Given the description of an element on the screen output the (x, y) to click on. 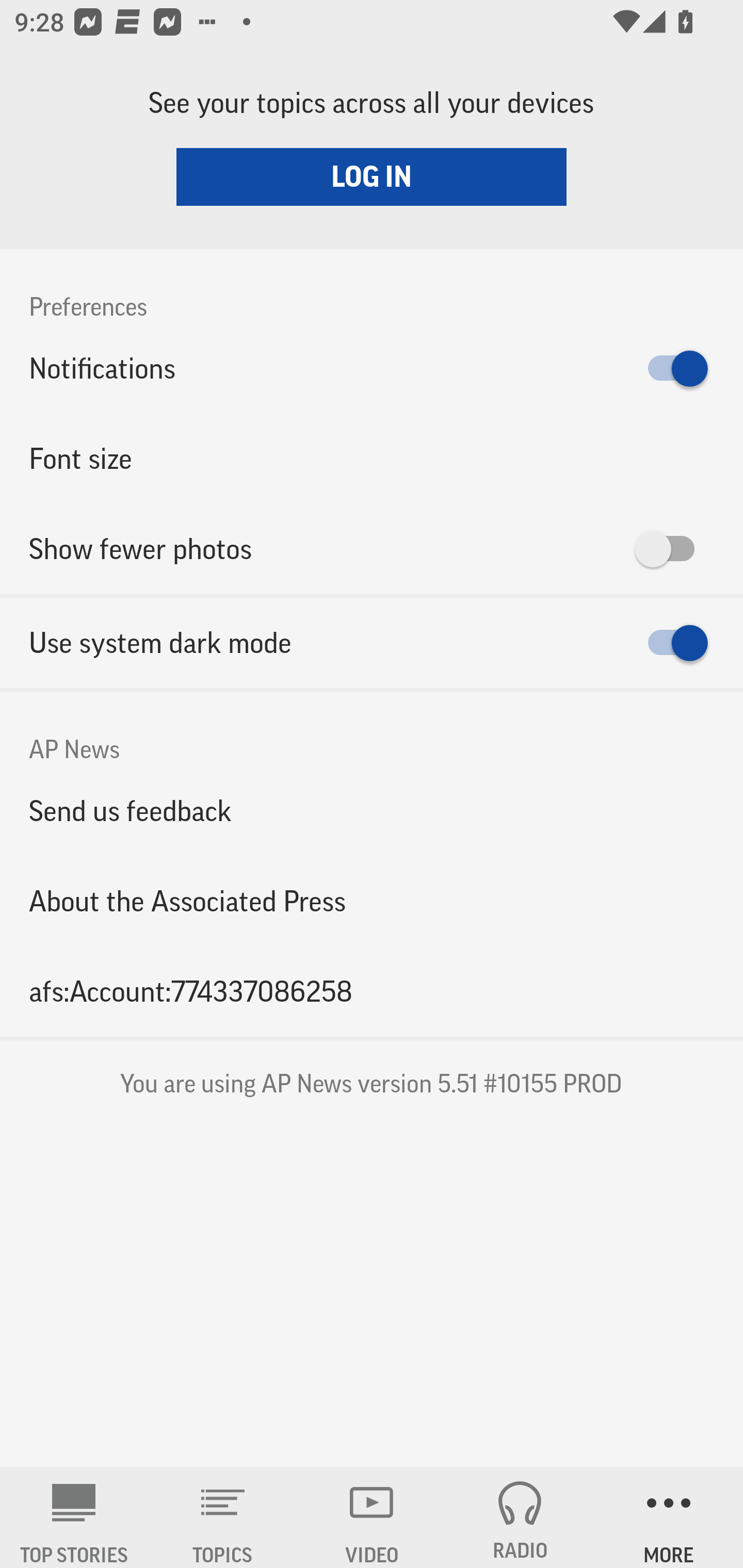
LOG IN (371, 176)
Notifications (371, 368)
Font size (371, 458)
Show fewer photos (371, 548)
Use system dark mode (371, 642)
Send us feedback (371, 810)
About the Associated Press (371, 901)
afs:Account:774337086258 (371, 991)
AP News TOP STORIES (74, 1517)
TOPICS (222, 1517)
VIDEO (371, 1517)
RADIO (519, 1517)
MORE (668, 1517)
